Given the description of an element on the screen output the (x, y) to click on. 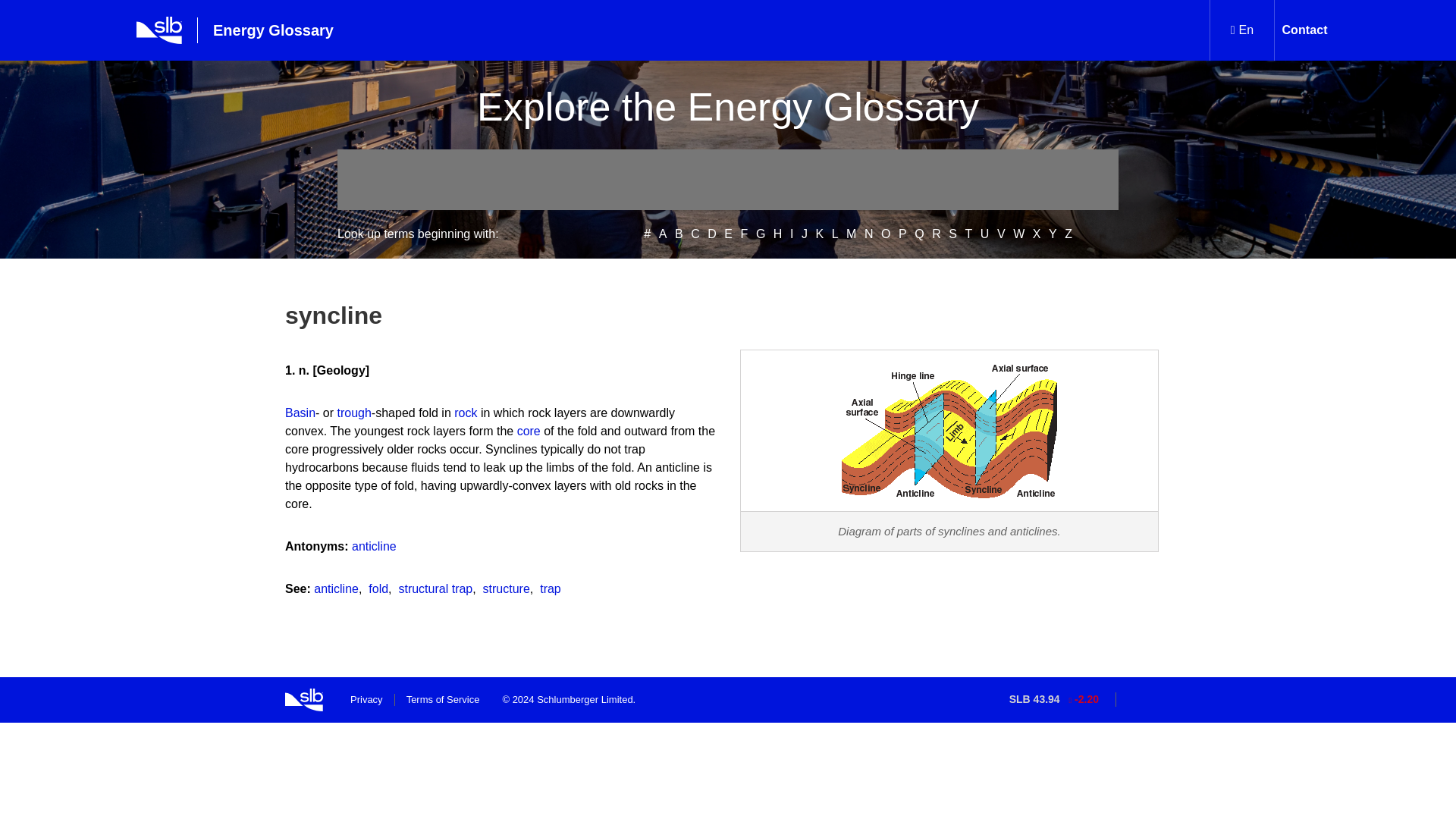
En (1241, 30)
rock (465, 412)
Contact (1304, 30)
W (1019, 233)
Energy Glossary (257, 30)
trough (353, 412)
Basin (300, 412)
core (528, 431)
